Given the description of an element on the screen output the (x, y) to click on. 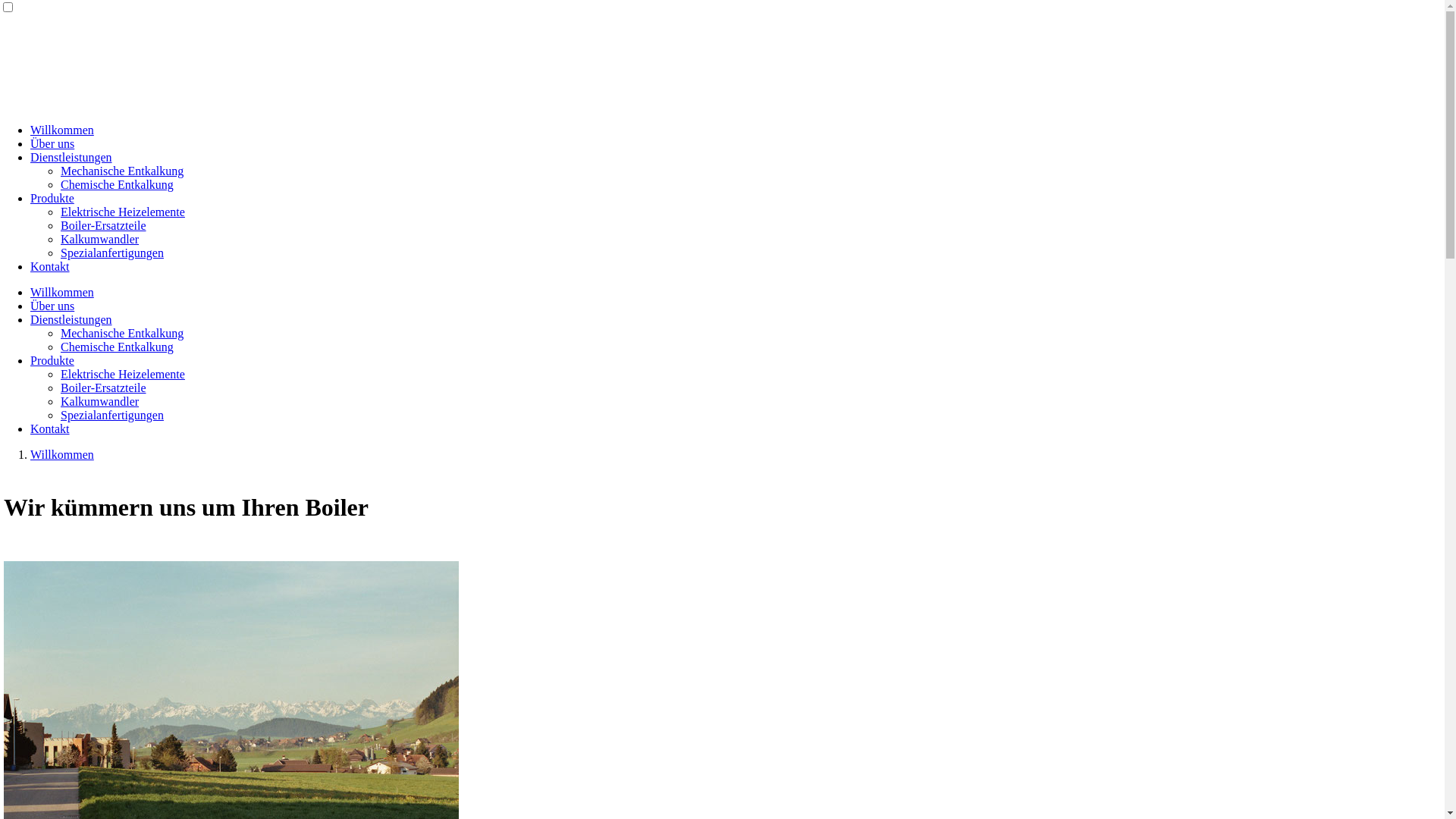
Chemische Entkalkung Element type: text (116, 346)
Mechanische Entkalkung Element type: text (121, 170)
Willkommen Element type: text (62, 291)
Mechanische Entkalkung Element type: text (121, 332)
Spezialanfertigungen Element type: text (111, 252)
Kalkumwandler Element type: text (99, 401)
Kontakt Element type: text (49, 428)
Willkommen Element type: text (62, 129)
Elektrische Heizelemente Element type: text (122, 373)
Willkommen Element type: text (62, 454)
Dienstleistungen Element type: text (71, 156)
Elektrische Heizelemente Element type: text (122, 211)
Dienstleistungen Element type: text (71, 319)
Boiler-Ersatzteile Element type: text (103, 387)
Spezialanfertigungen Element type: text (111, 414)
Kontakt Element type: text (49, 266)
Produkte Element type: text (52, 360)
Boiler-Ersatzteile Element type: text (103, 225)
Produkte Element type: text (52, 197)
Chemische Entkalkung Element type: text (116, 184)
Kalkumwandler Element type: text (99, 238)
